Given the description of an element on the screen output the (x, y) to click on. 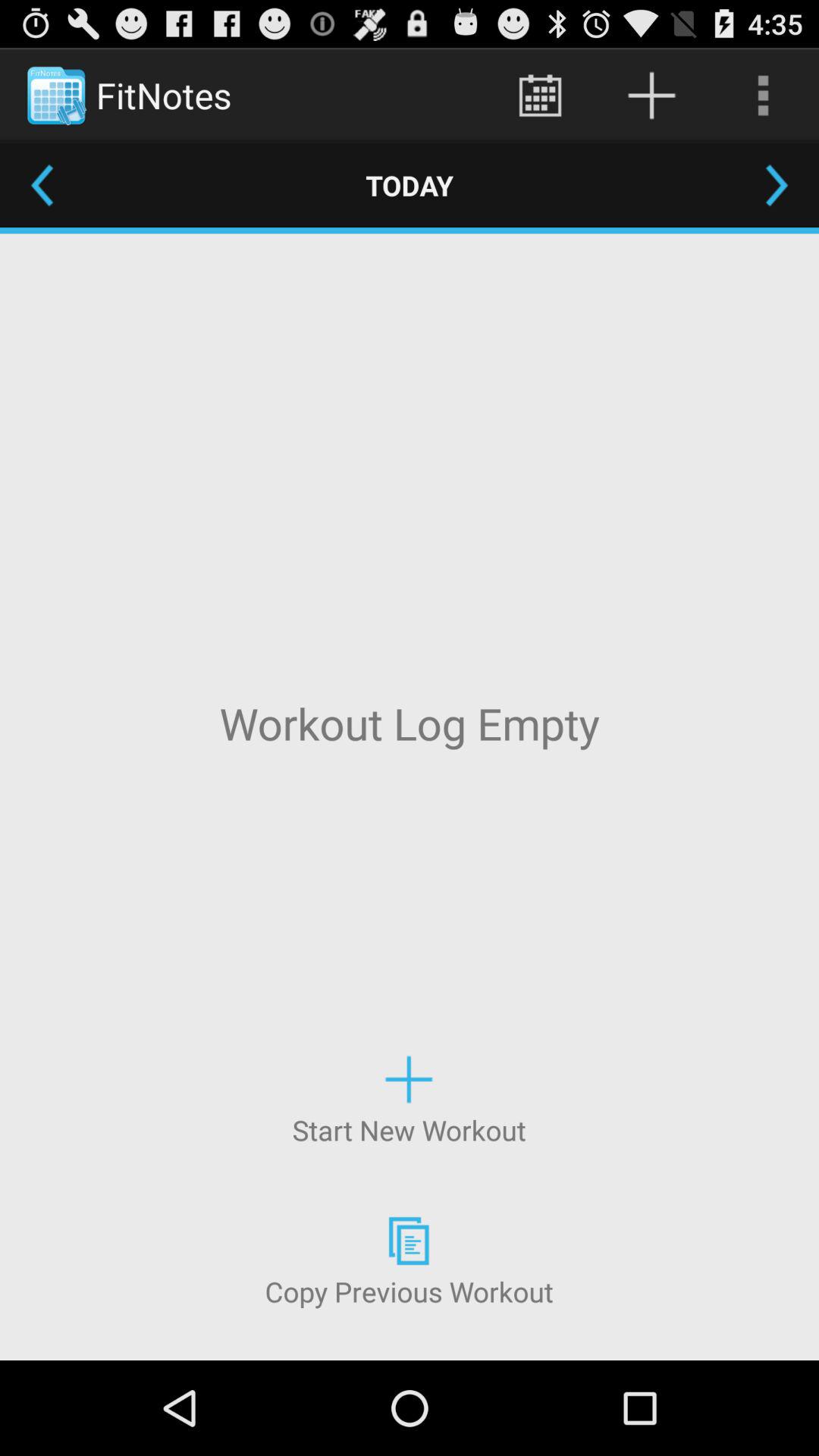
swipe until today item (409, 185)
